Given the description of an element on the screen output the (x, y) to click on. 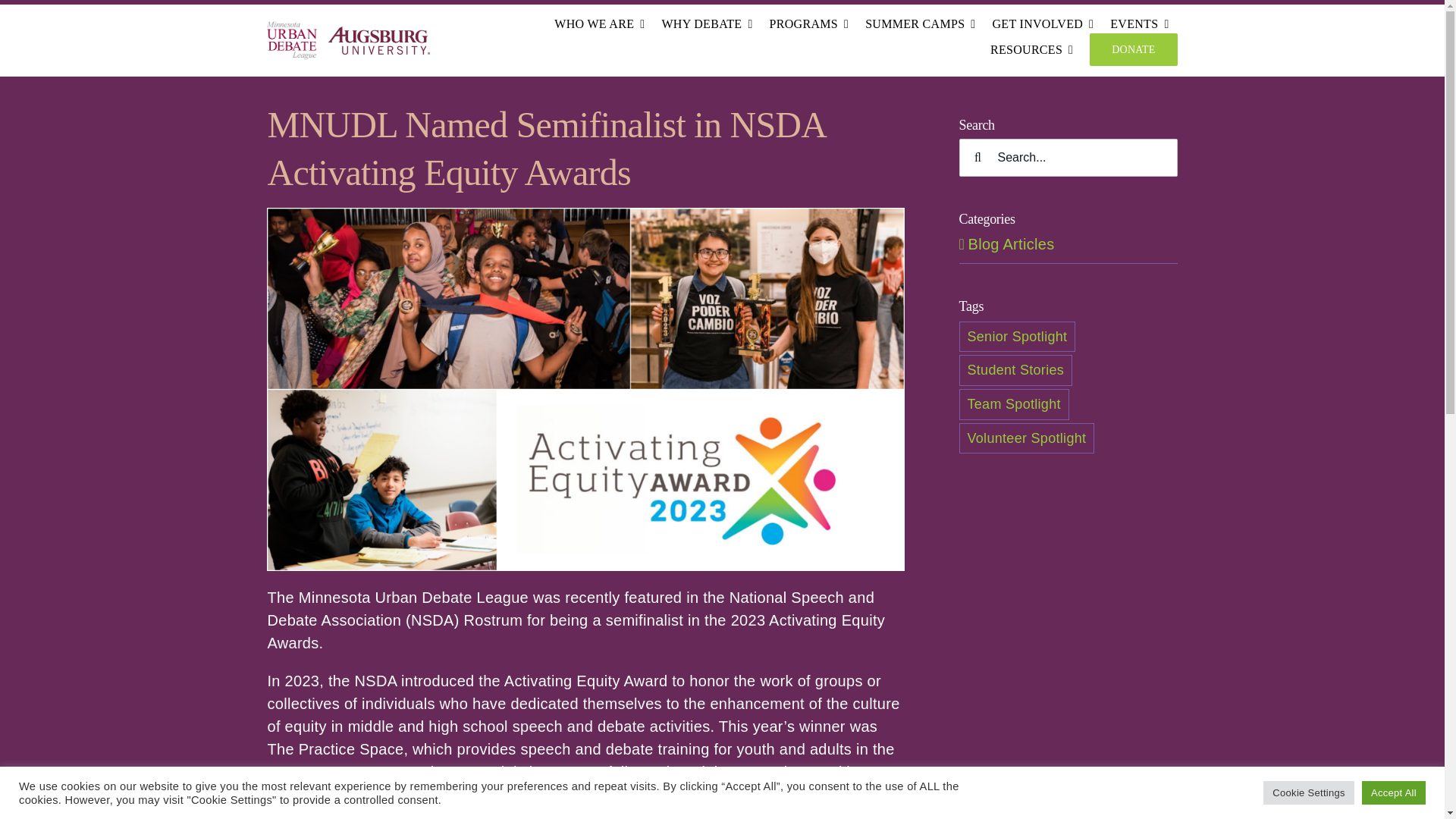
GET INVOLVED (1042, 24)
WHY DEBATE (706, 24)
WHO WE ARE (599, 24)
SUMMER CAMPS (919, 24)
PROGRAMS (809, 24)
